Given the description of an element on the screen output the (x, y) to click on. 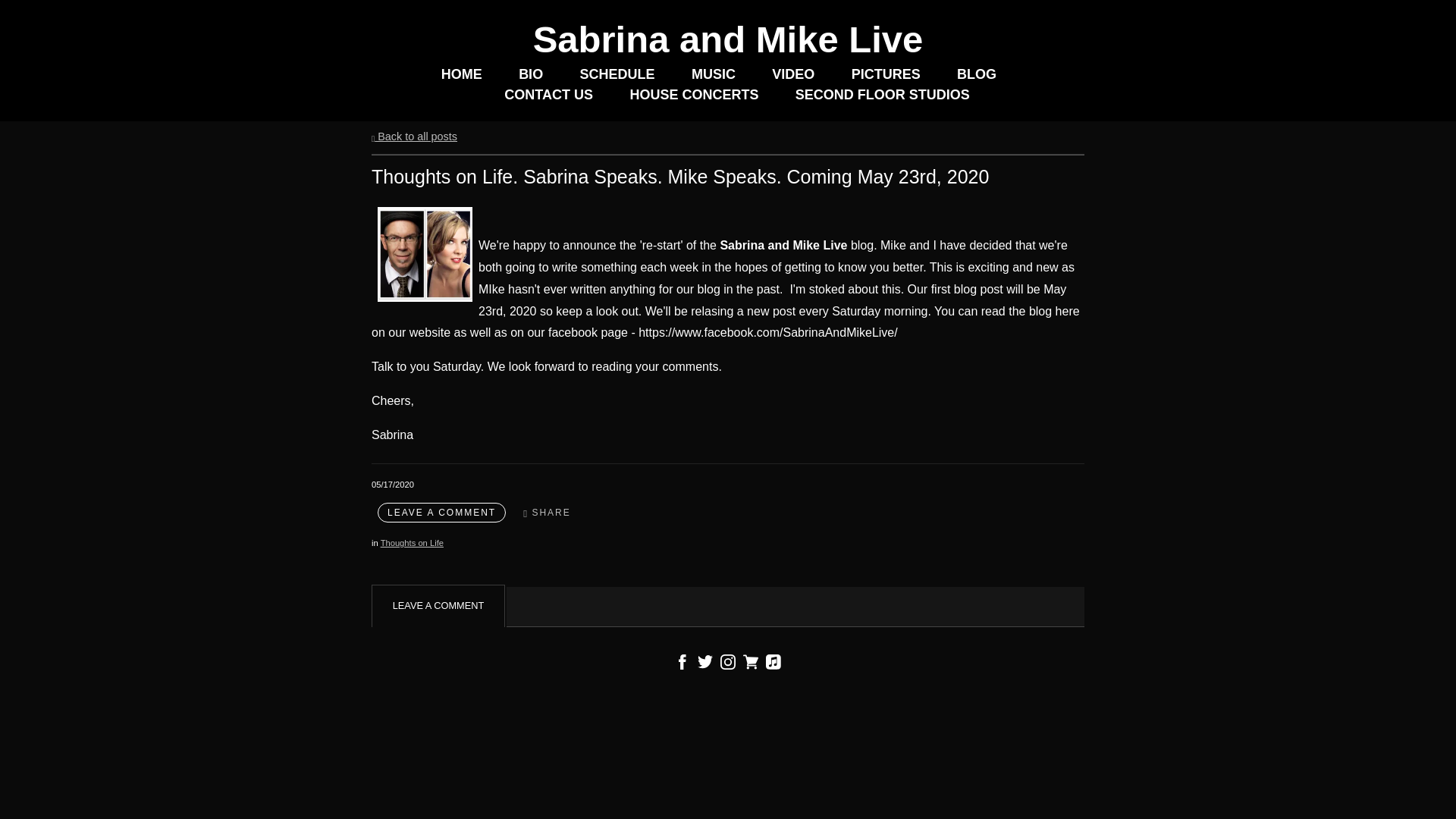
Sabrina and Mike Live (727, 39)
Back to all posts (414, 136)
MUSIC (713, 74)
BLOG (975, 74)
SECOND FLOOR STUDIOS (881, 95)
PICTURES (885, 74)
SCHEDULE (617, 74)
HOUSE CONCERTS (693, 95)
HOME (461, 74)
LEAVE A COMMENT (441, 512)
Thoughts on Life (412, 542)
BIO (530, 74)
VIDEO (792, 74)
Leave a comment (441, 512)
